Given the description of an element on the screen output the (x, y) to click on. 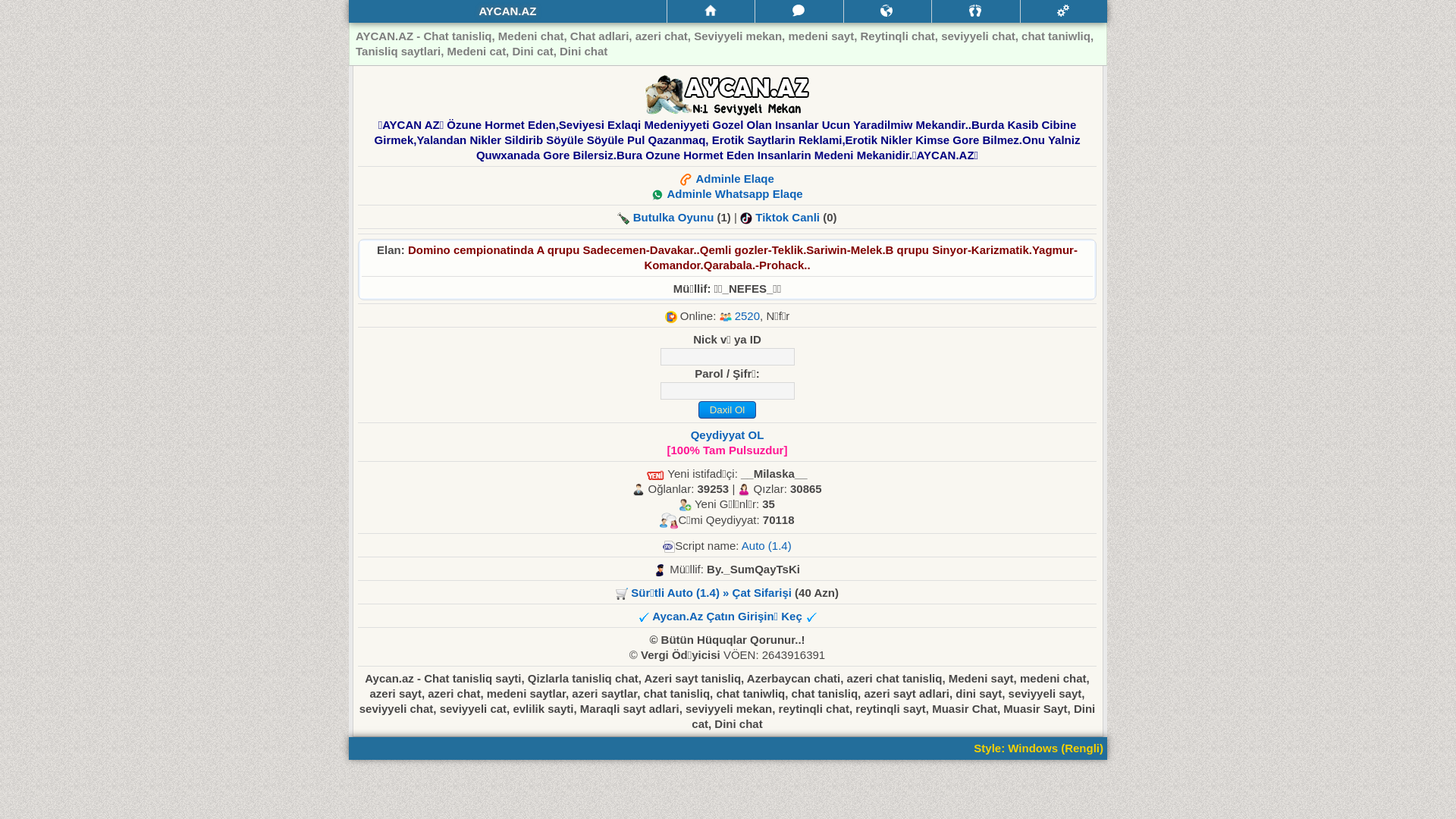
Style: Windows (Rengli) Element type: text (1038, 747)
Mesajlar Element type: hover (798, 11)
nick Element type: hover (726, 356)
Tiktok Canli Element type: text (787, 216)
Butulka Oyunu Element type: text (675, 216)
Mektublar Element type: hover (887, 11)
AYCAN.AZ Element type: text (507, 11)
Home Element type: hover (710, 11)
2520 Element type: text (746, 315)
Daxil Ol Element type: text (726, 409)
Auto (1.4) Element type: text (766, 545)
Adminle Whatsapp Elaqe Element type: text (734, 193)
Qeydiyyat OL Element type: text (727, 434)
Adminle Elaqe Element type: text (734, 178)
Qonaqlar Element type: hover (975, 11)
Parol Element type: hover (726, 390)
